Given the description of an element on the screen output the (x, y) to click on. 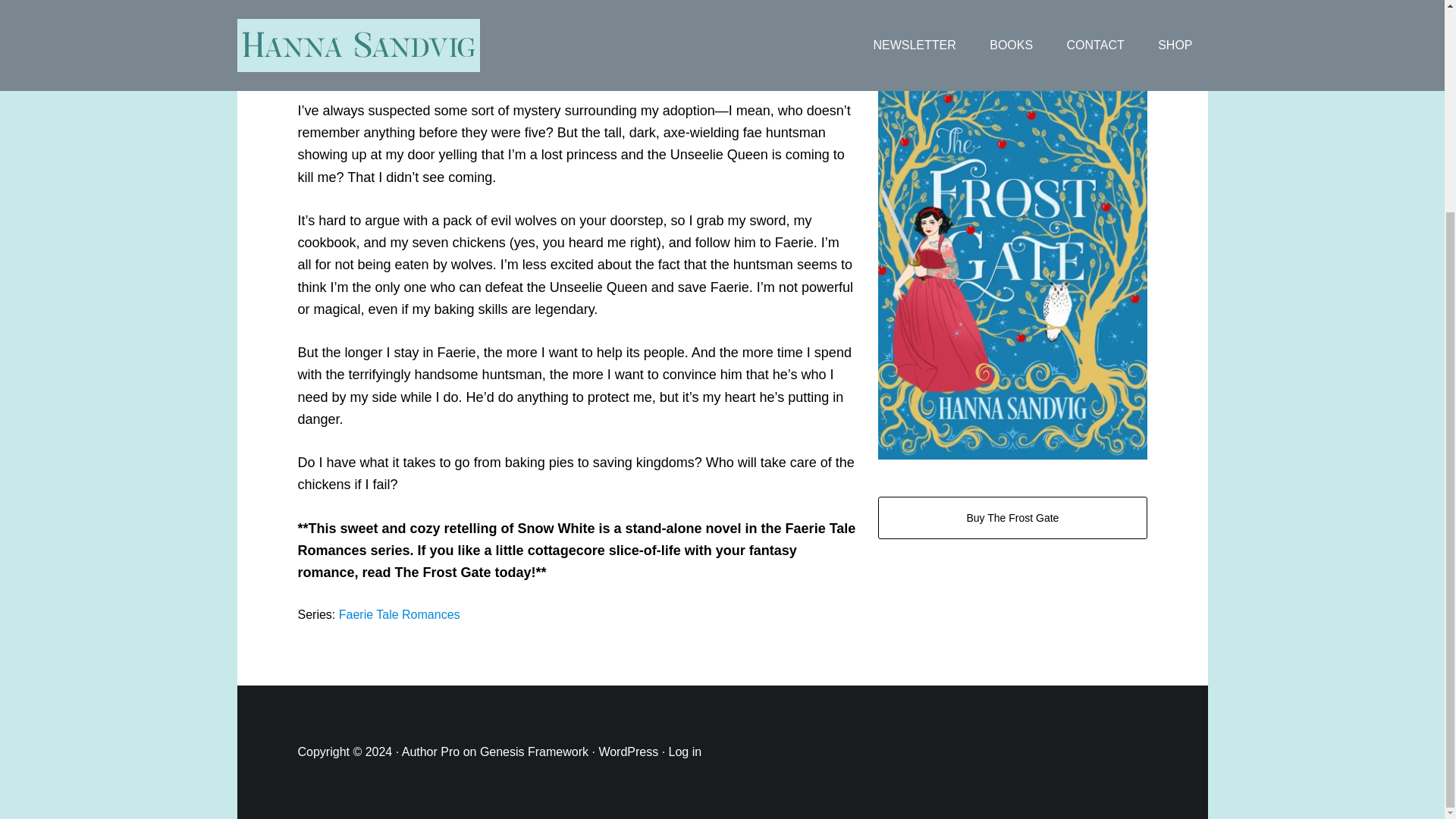
Log in (684, 751)
Faerie Tale Romances (399, 614)
WordPress (628, 751)
Hanna Sandvig (363, 4)
Author Pro (430, 751)
Buy The Frost Gate (1012, 517)
Genesis Framework (534, 751)
